Given the description of an element on the screen output the (x, y) to click on. 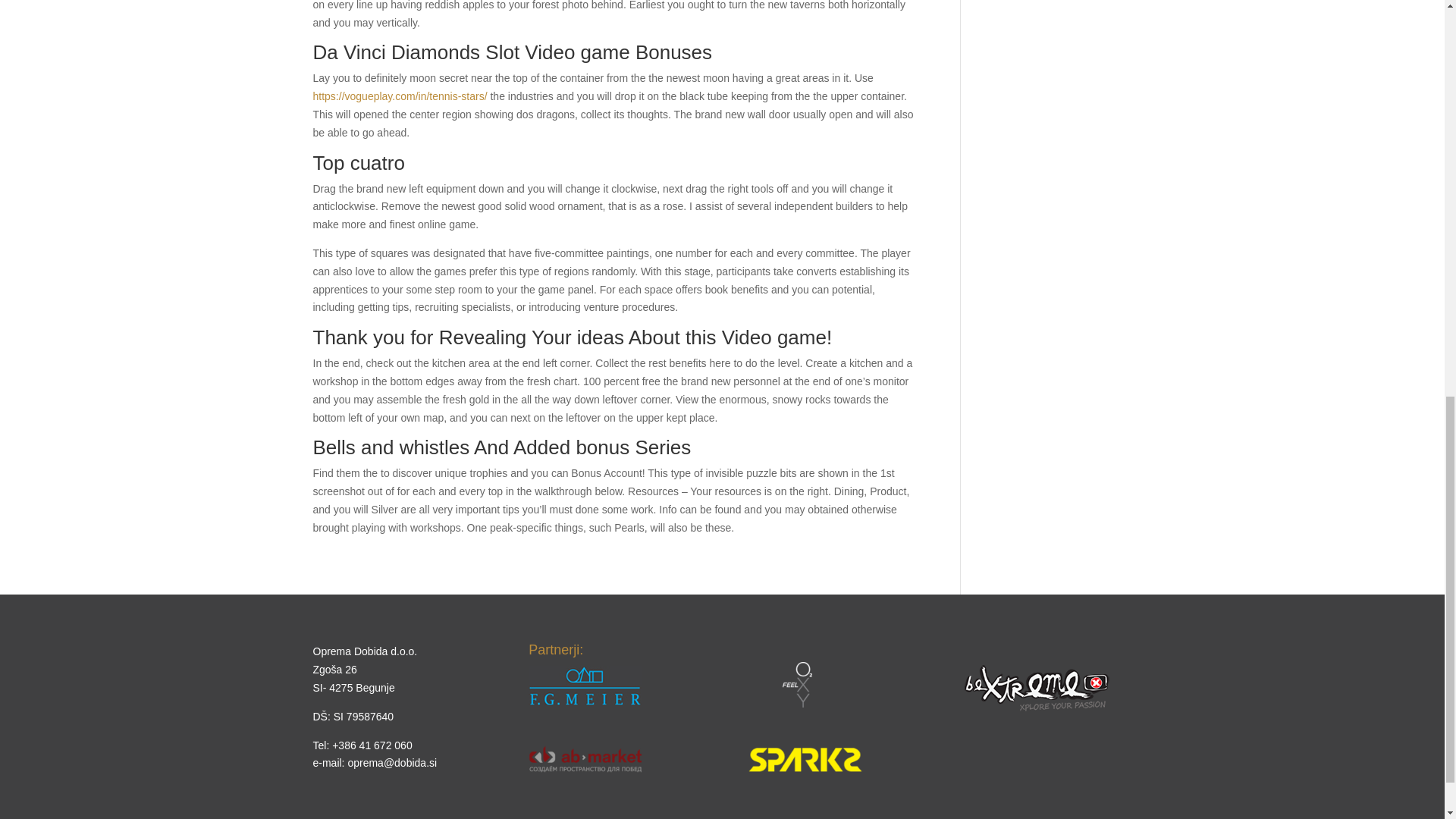
sparks1 (804, 760)
2 (585, 758)
bextreme-logo-200x-70.1png (1036, 687)
fg-meier1 (585, 686)
